Given the description of an element on the screen output the (x, y) to click on. 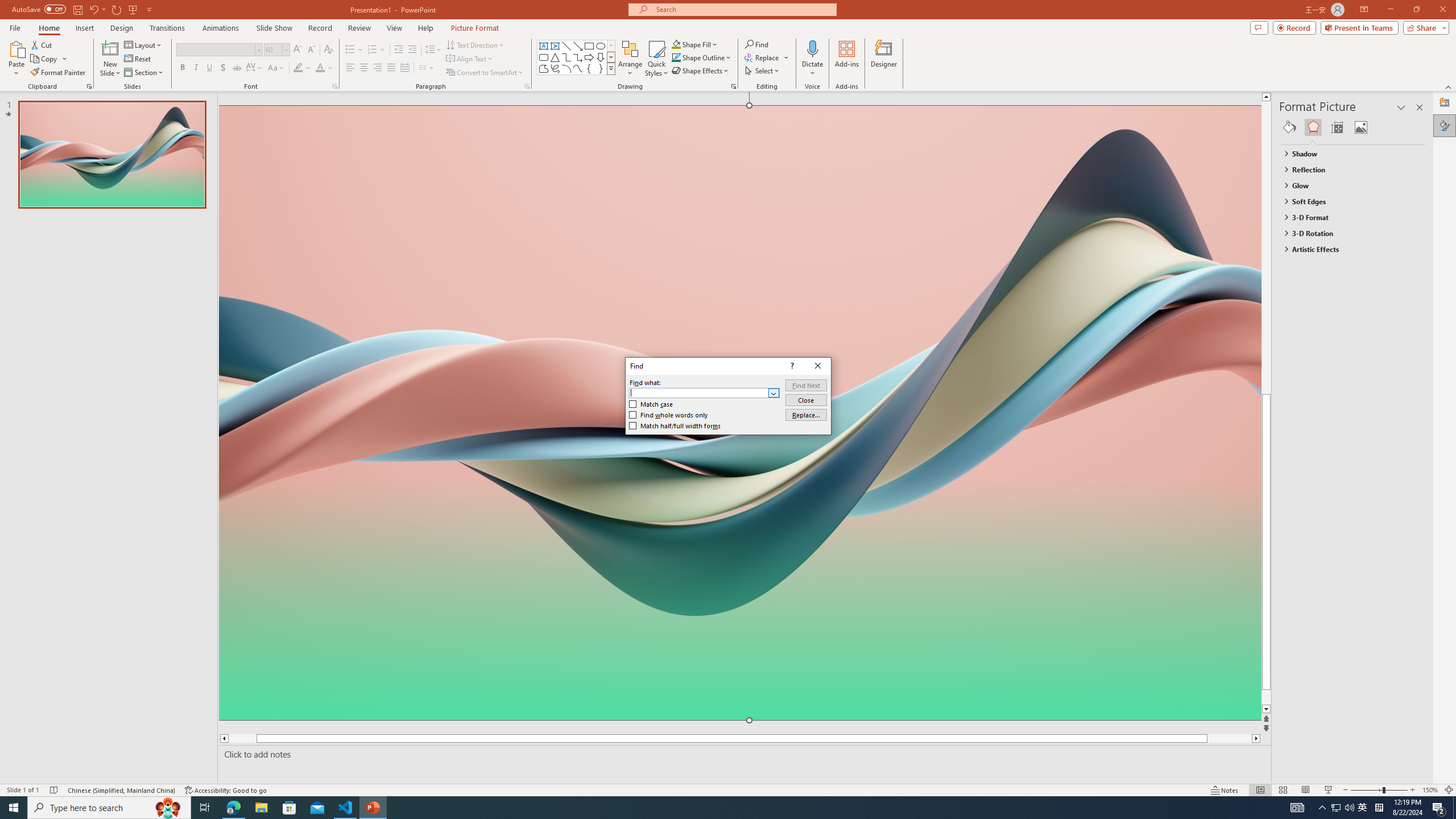
Format Picture (1444, 125)
Find whole words only (668, 414)
